Given the description of an element on the screen output the (x, y) to click on. 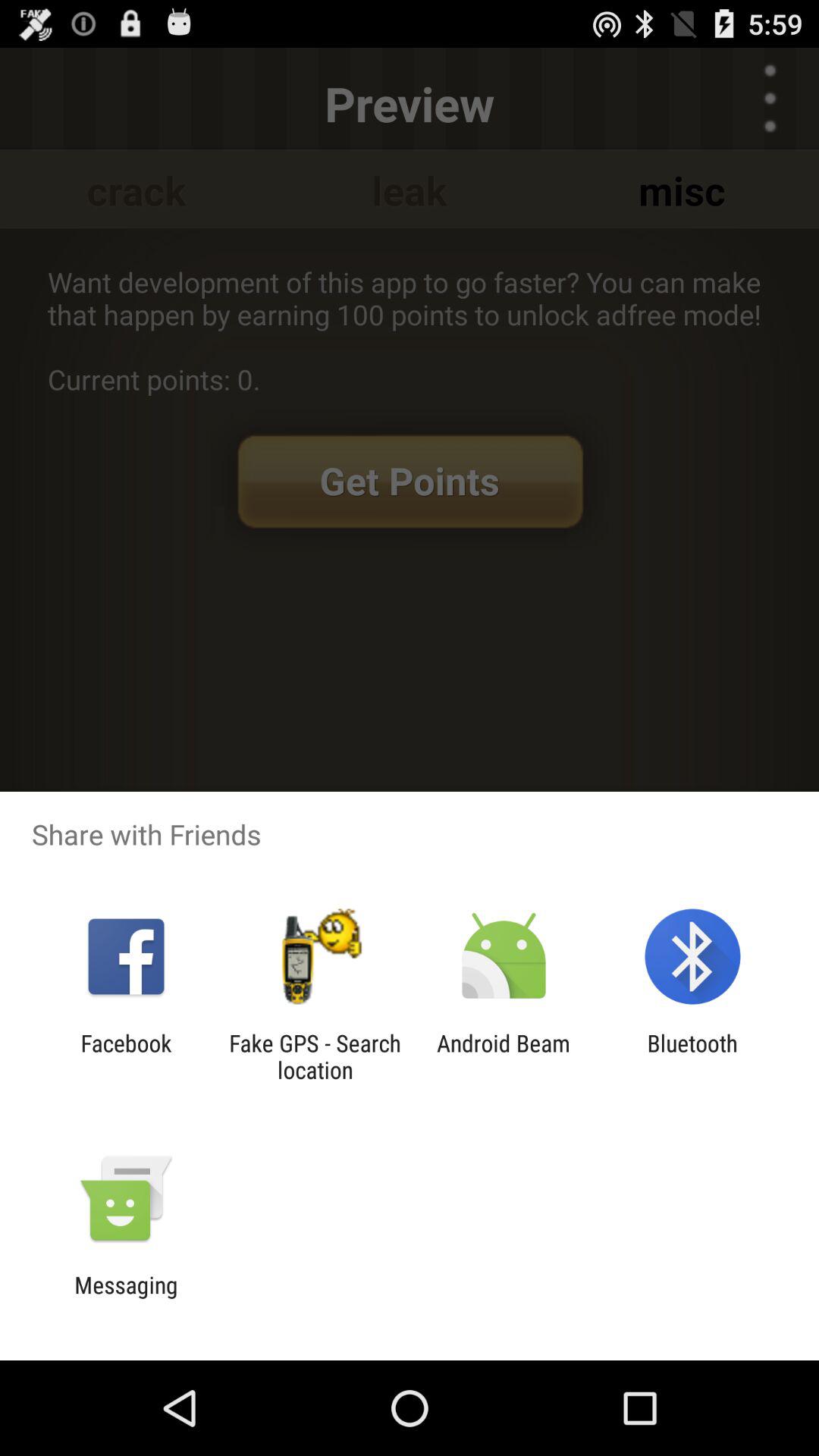
click bluetooth icon (692, 1056)
